Given the description of an element on the screen output the (x, y) to click on. 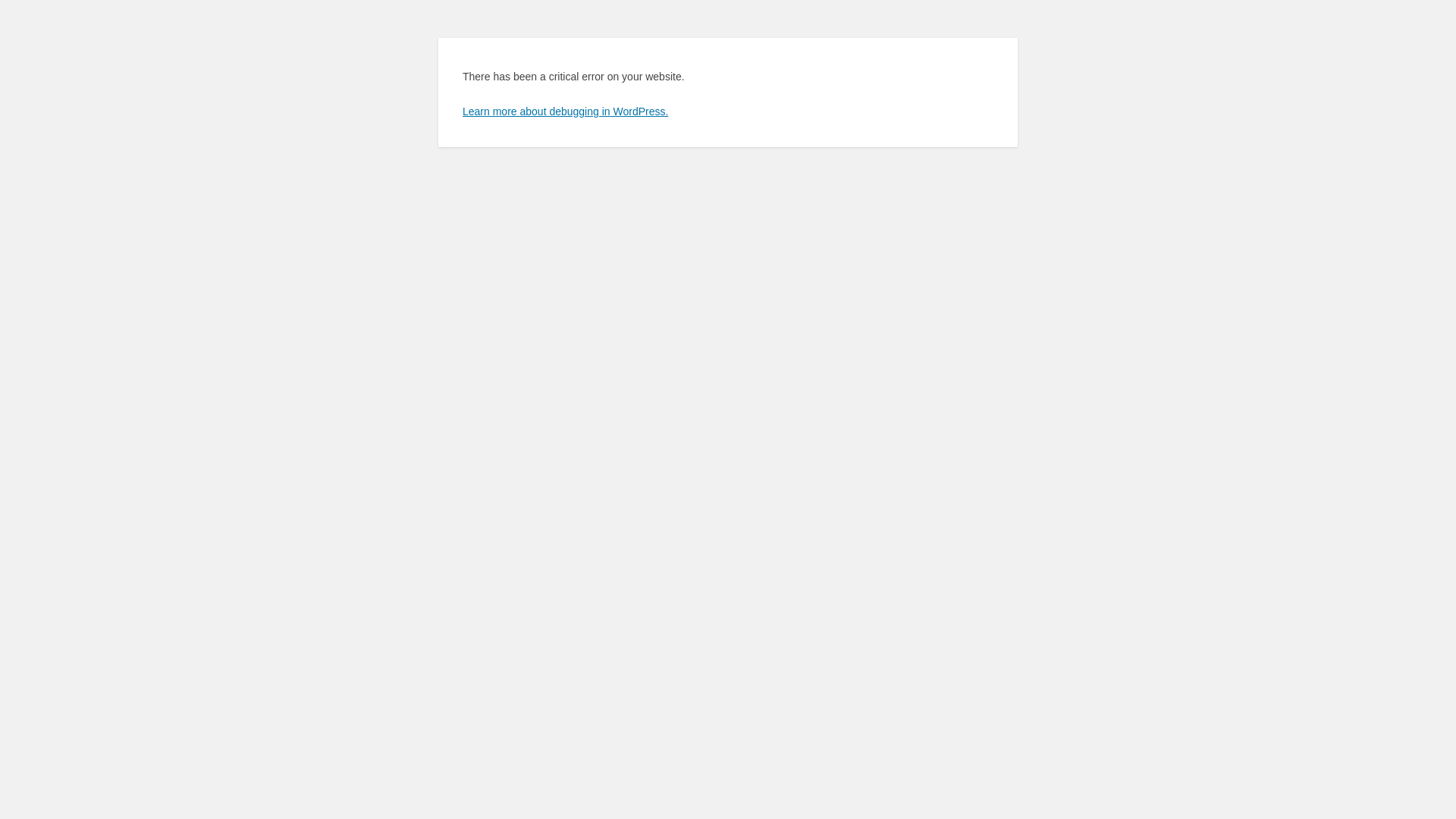
Learn more about debugging in WordPress. Element type: text (565, 111)
